Given the description of an element on the screen output the (x, y) to click on. 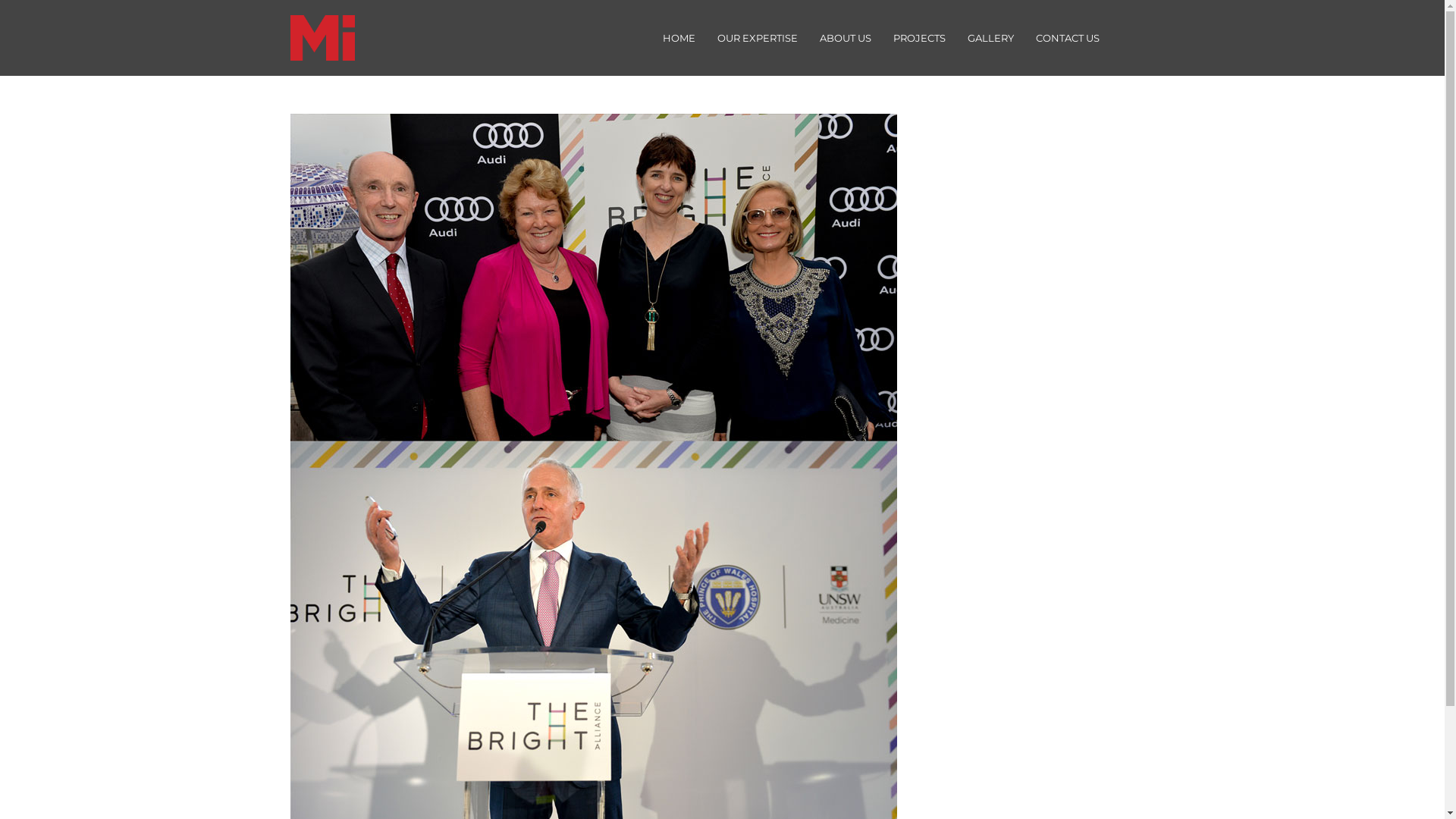
GALLERY Element type: text (989, 37)
OUR EXPERTISE Element type: text (756, 37)
PROJECTS Element type: text (918, 37)
HOME Element type: text (678, 37)
ABOUT US Element type: text (845, 37)
CONTACT US Element type: text (1066, 37)
